Given the description of an element on the screen output the (x, y) to click on. 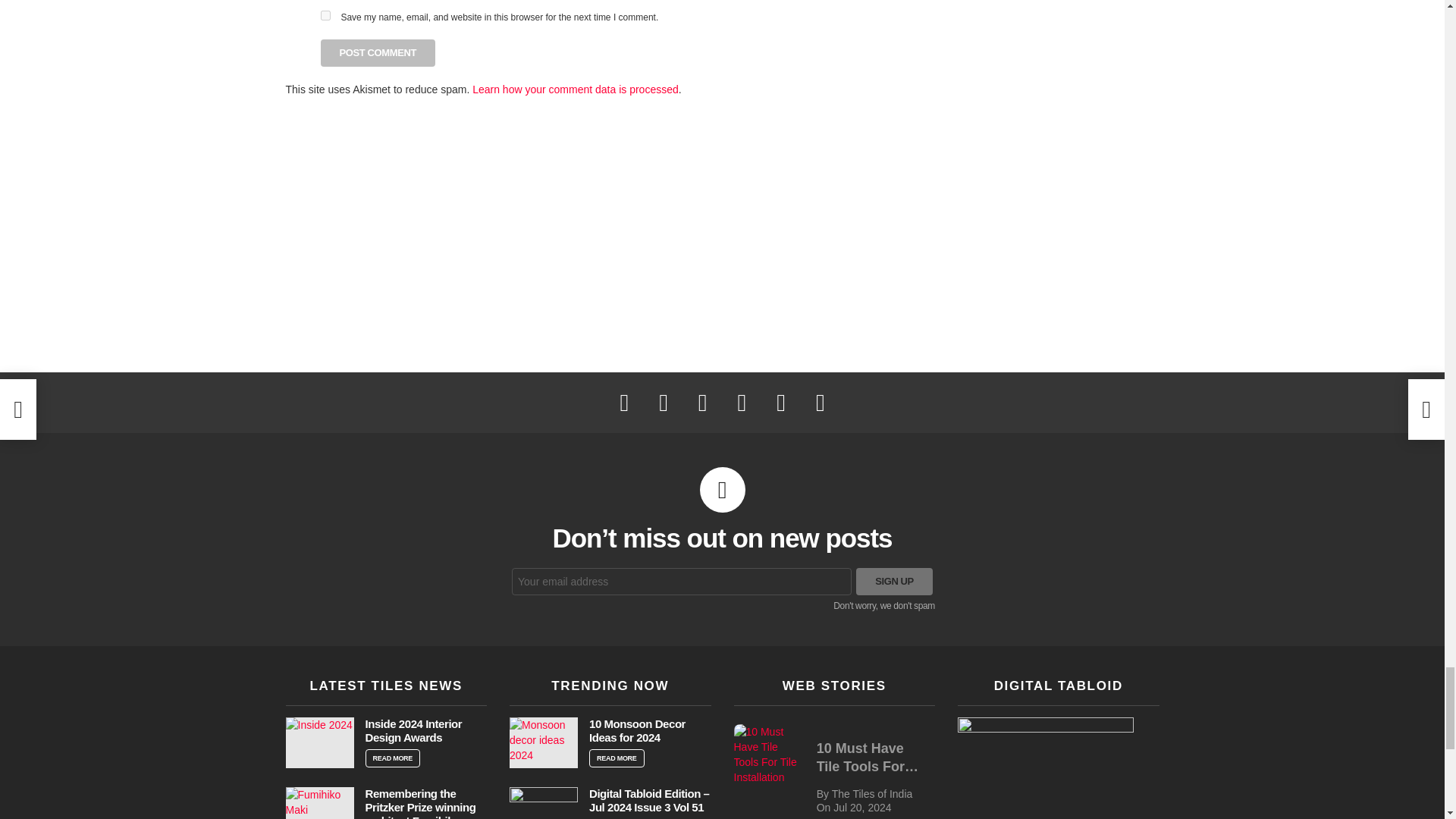
Sign up (894, 581)
Post Comment (377, 52)
yes (325, 15)
